Given the description of an element on the screen output the (x, y) to click on. 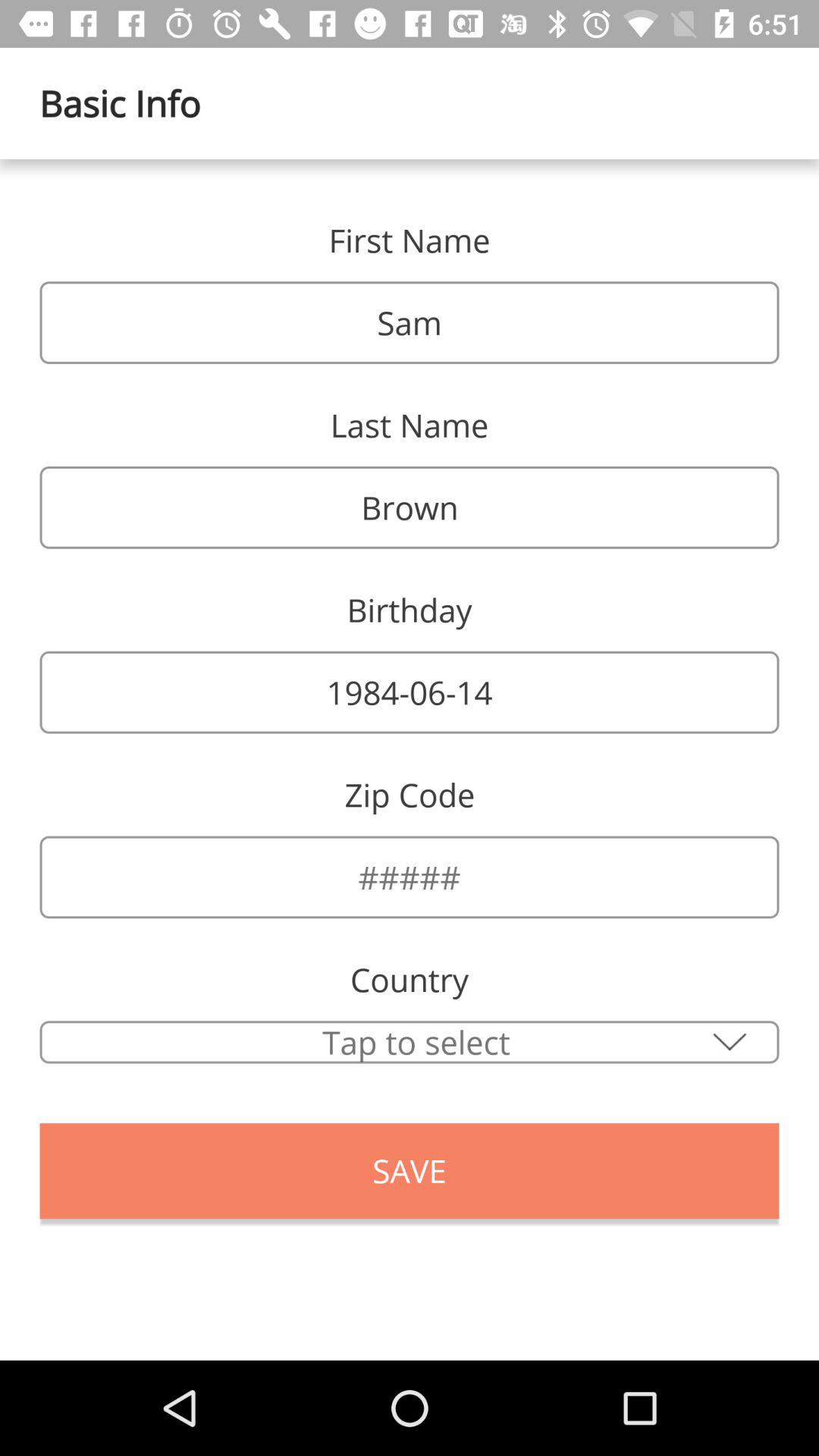
select country (409, 1041)
